Given the description of an element on the screen output the (x, y) to click on. 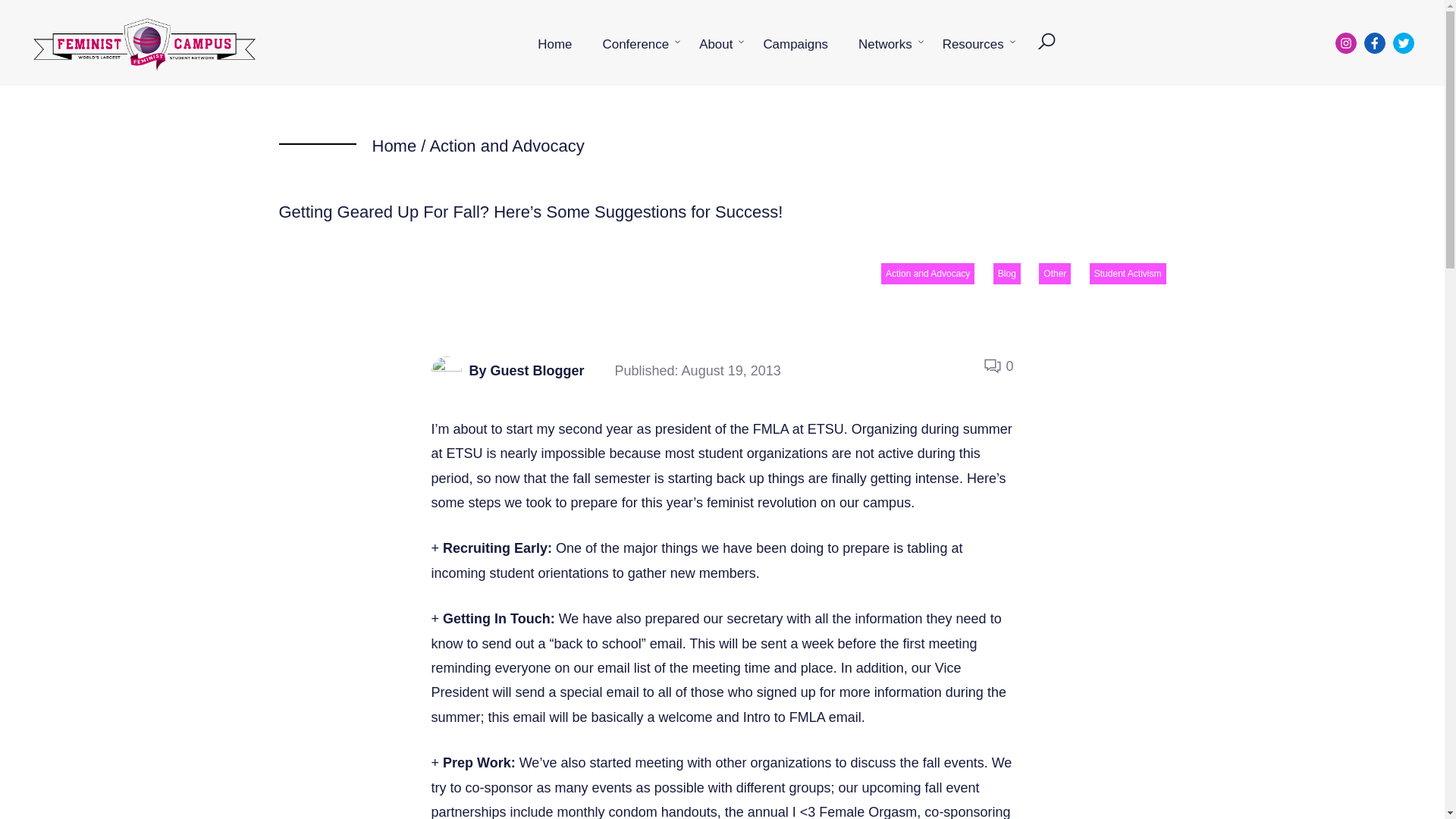
Campaigns (795, 44)
Home (393, 145)
Networks (885, 44)
Conference (636, 44)
Resources (973, 44)
About (716, 44)
Home (554, 44)
